Given the description of an element on the screen output the (x, y) to click on. 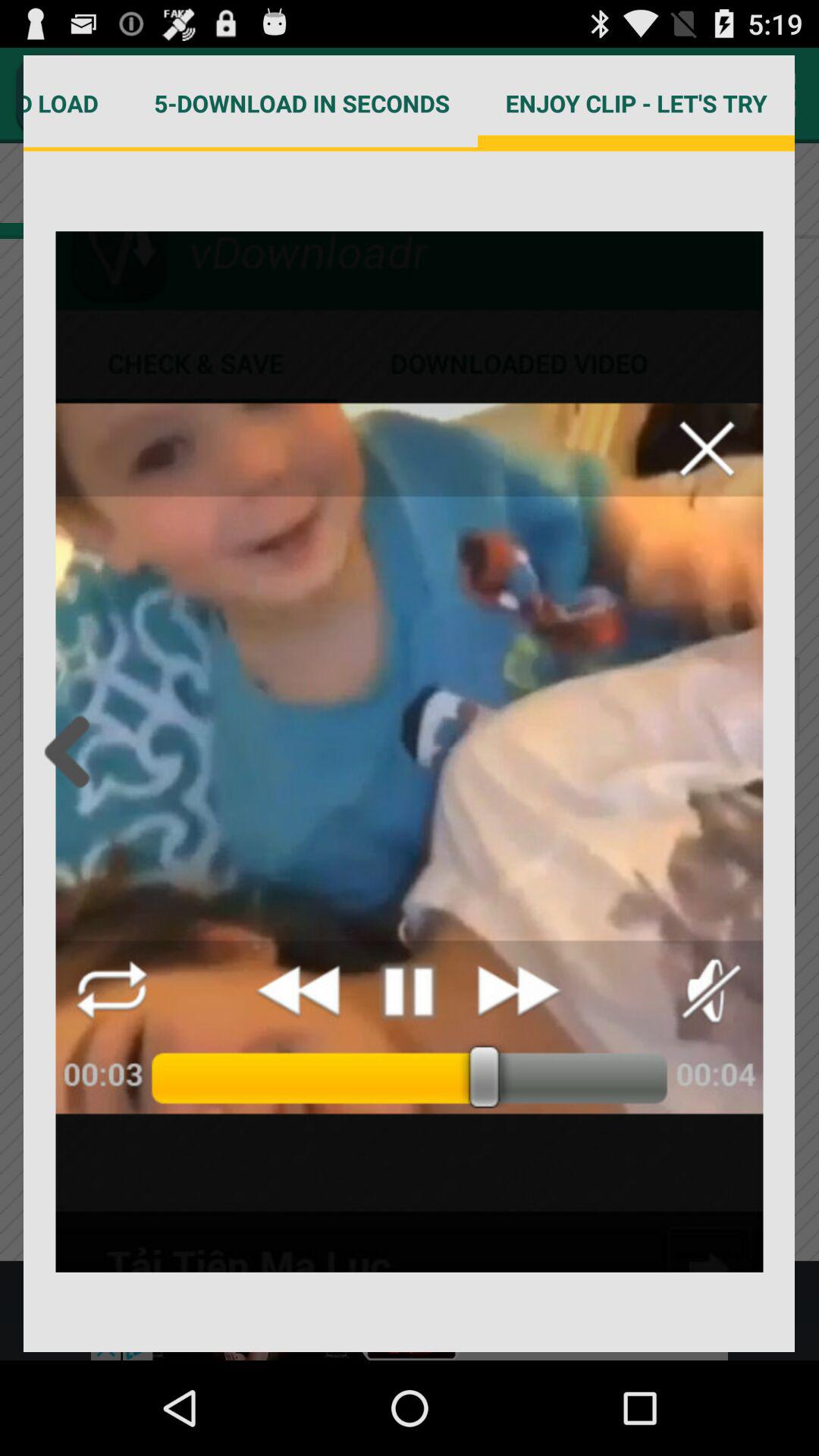
back (71, 751)
